Given the description of an element on the screen output the (x, y) to click on. 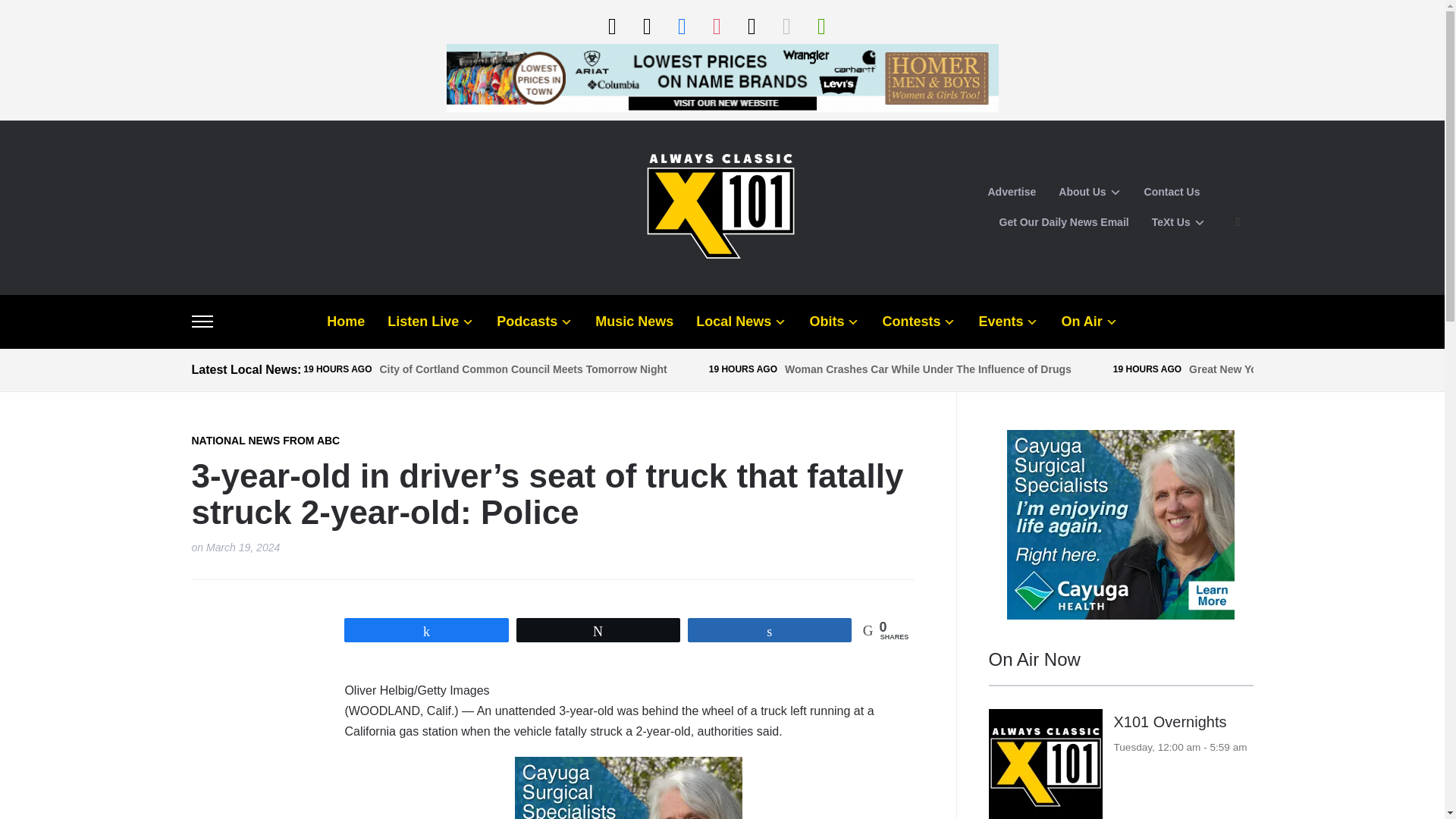
play-circle-o (611, 24)
facebook (680, 24)
instagram (715, 24)
phone (646, 24)
Listen Live (611, 24)
Get Our Daily News Email (1063, 223)
x (750, 24)
Contact Us (1171, 192)
Advertise (1011, 192)
Facebook (680, 24)
